Given the description of an element on the screen output the (x, y) to click on. 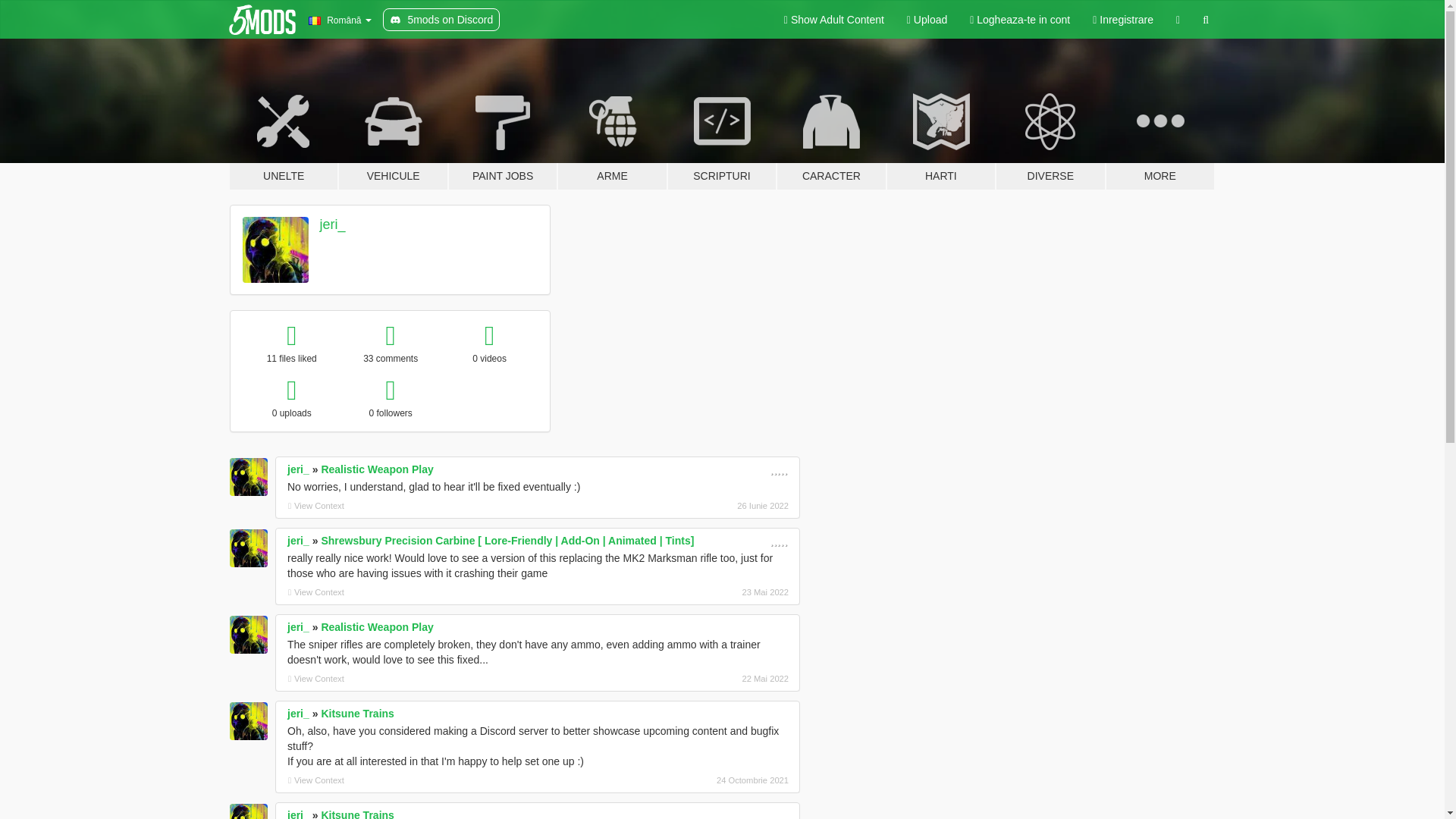
Logheaza-te in cont (1019, 19)
Upload (926, 19)
5mods on Discord (440, 19)
Awesome! (778, 469)
Show Adult Content (834, 19)
Light mode (834, 19)
Inregistrare (1122, 19)
Awesome! (778, 540)
